Given the description of an element on the screen output the (x, y) to click on. 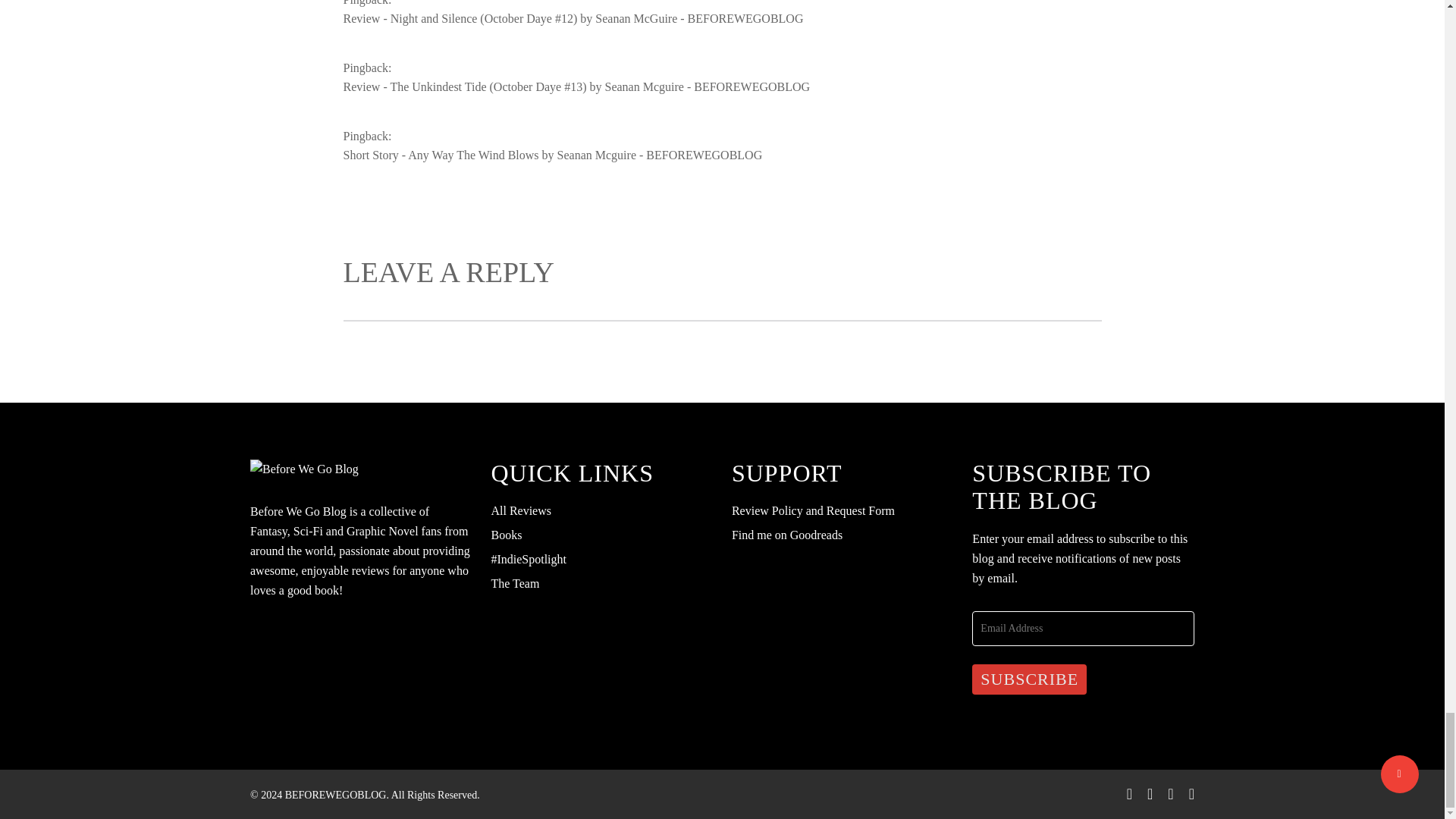
Subscribe (1029, 679)
